Given the description of an element on the screen output the (x, y) to click on. 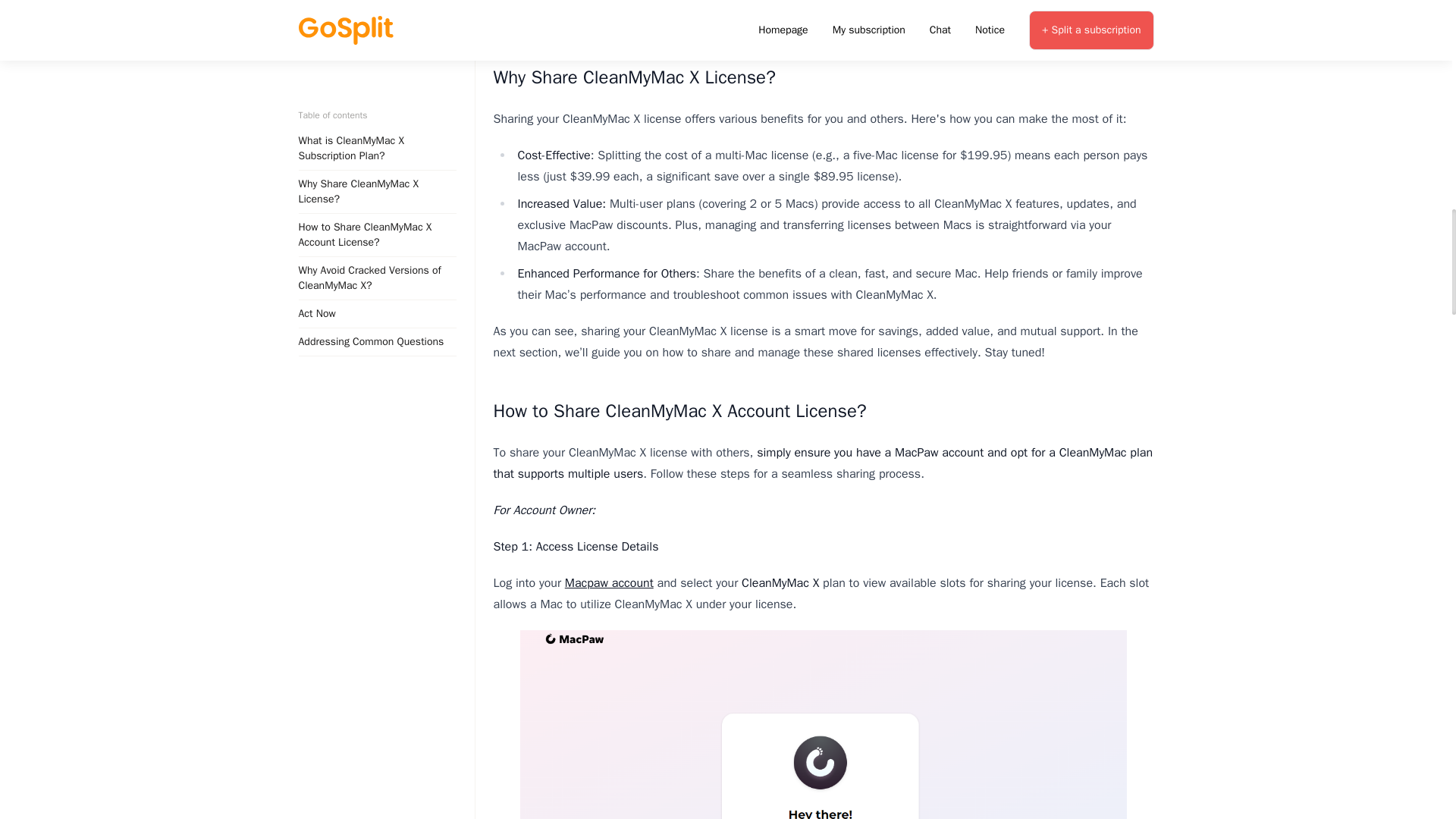
Why Share CleanMyMac X License? (633, 77)
Macpaw account (608, 582)
How to Share CleanMyMac X Account License? (679, 410)
